Given the description of an element on the screen output the (x, y) to click on. 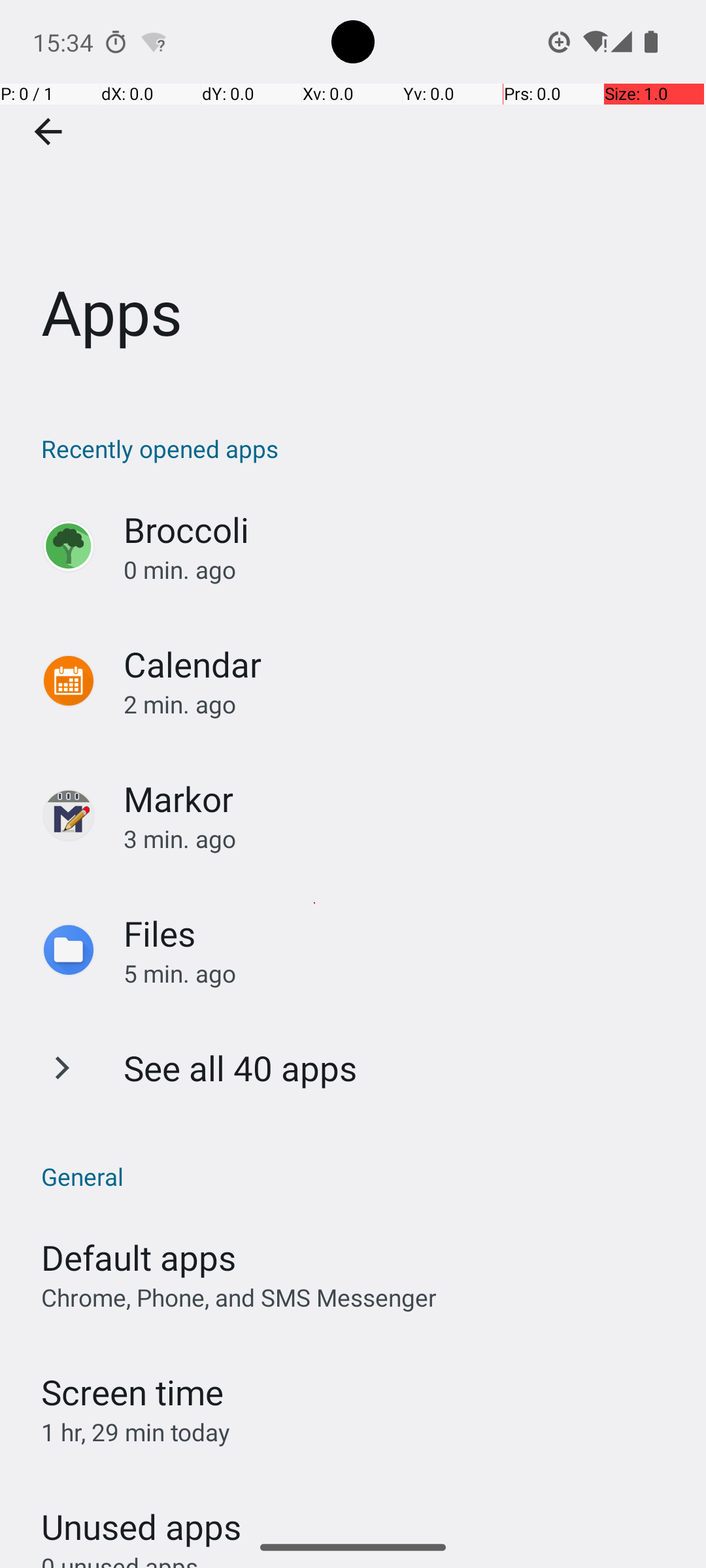
3 min. ago Element type: android.widget.TextView (400, 838)
5 min. ago Element type: android.widget.TextView (400, 972)
See all 40 apps Element type: android.widget.TextView (239, 1067)
1 hr, 29 min today Element type: android.widget.TextView (135, 1431)
